Given the description of an element on the screen output the (x, y) to click on. 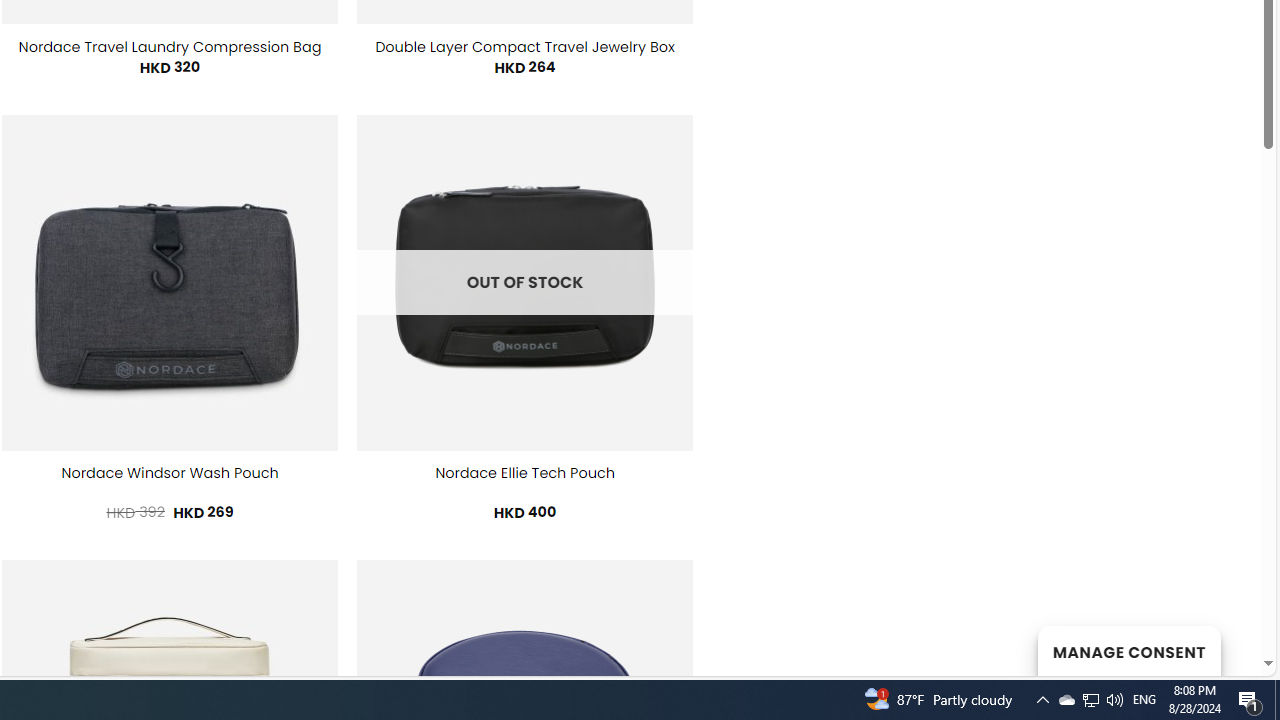
Nordace Travel Laundry Compression Bag (169, 47)
MANAGE CONSENT (1128, 650)
Double Layer Compact Travel Jewelry Box (524, 47)
Nordace Ellie Tech Pouch (524, 473)
Nordace Windsor Wash Pouch (170, 473)
